Given the description of an element on the screen output the (x, y) to click on. 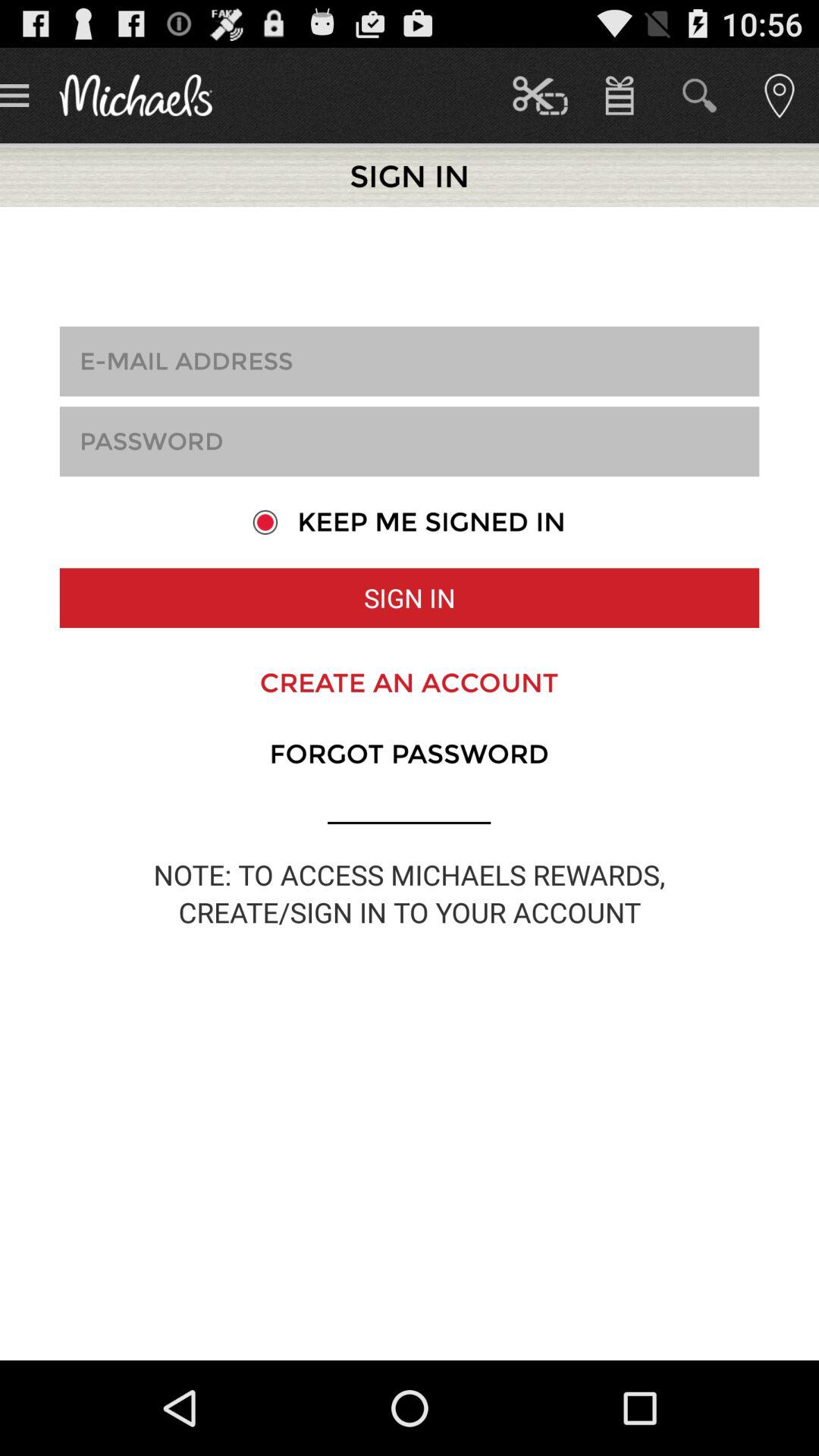
click the keep me signed item (409, 522)
